Given the description of an element on the screen output the (x, y) to click on. 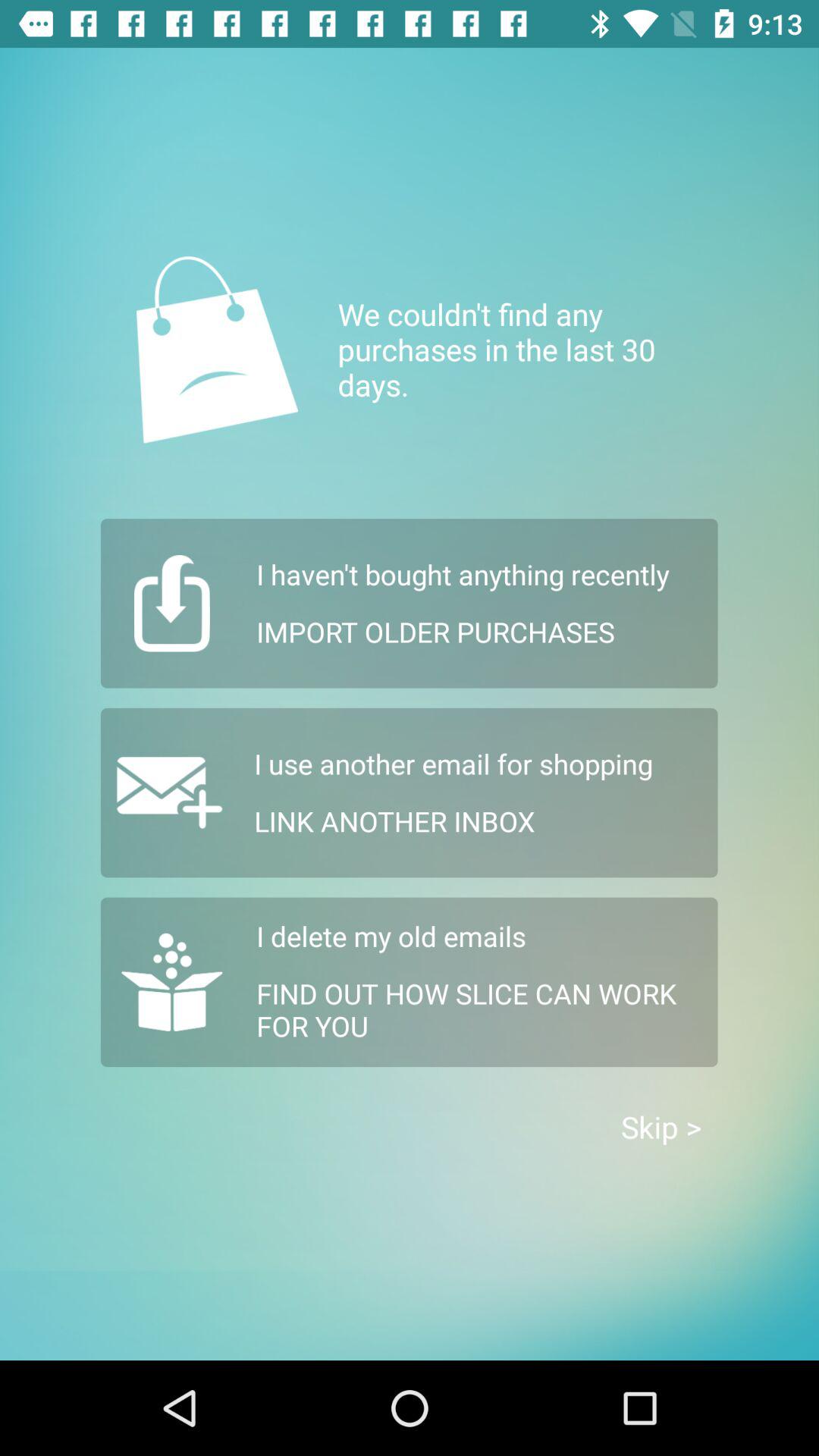
click the skip > icon (661, 1126)
